Given the description of an element on the screen output the (x, y) to click on. 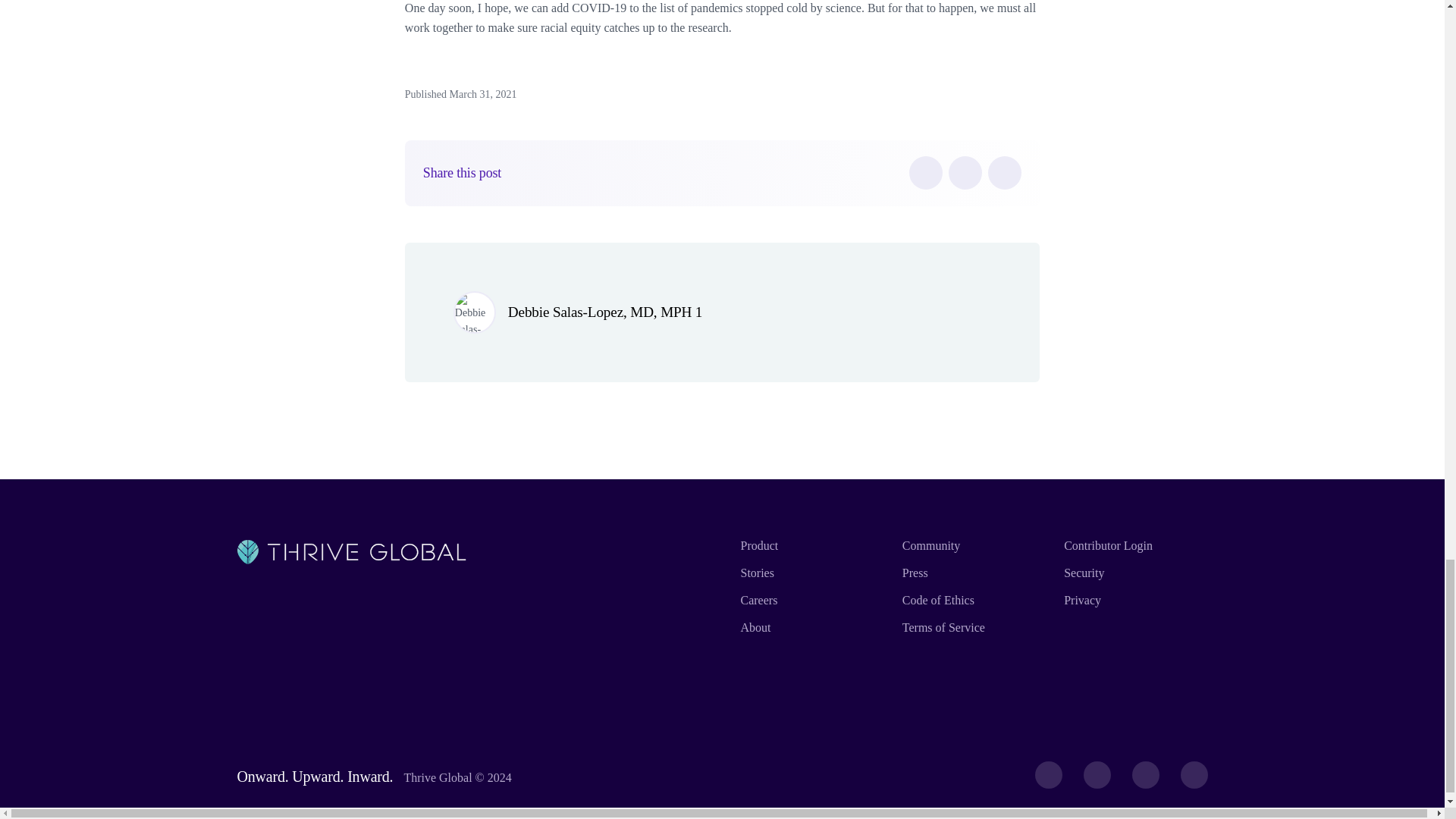
Facebook (925, 172)
LinkedIn (1005, 172)
Debbie Salas-Lopez, MD, MPH 1 (604, 311)
Twitter (965, 172)
